Given the description of an element on the screen output the (x, y) to click on. 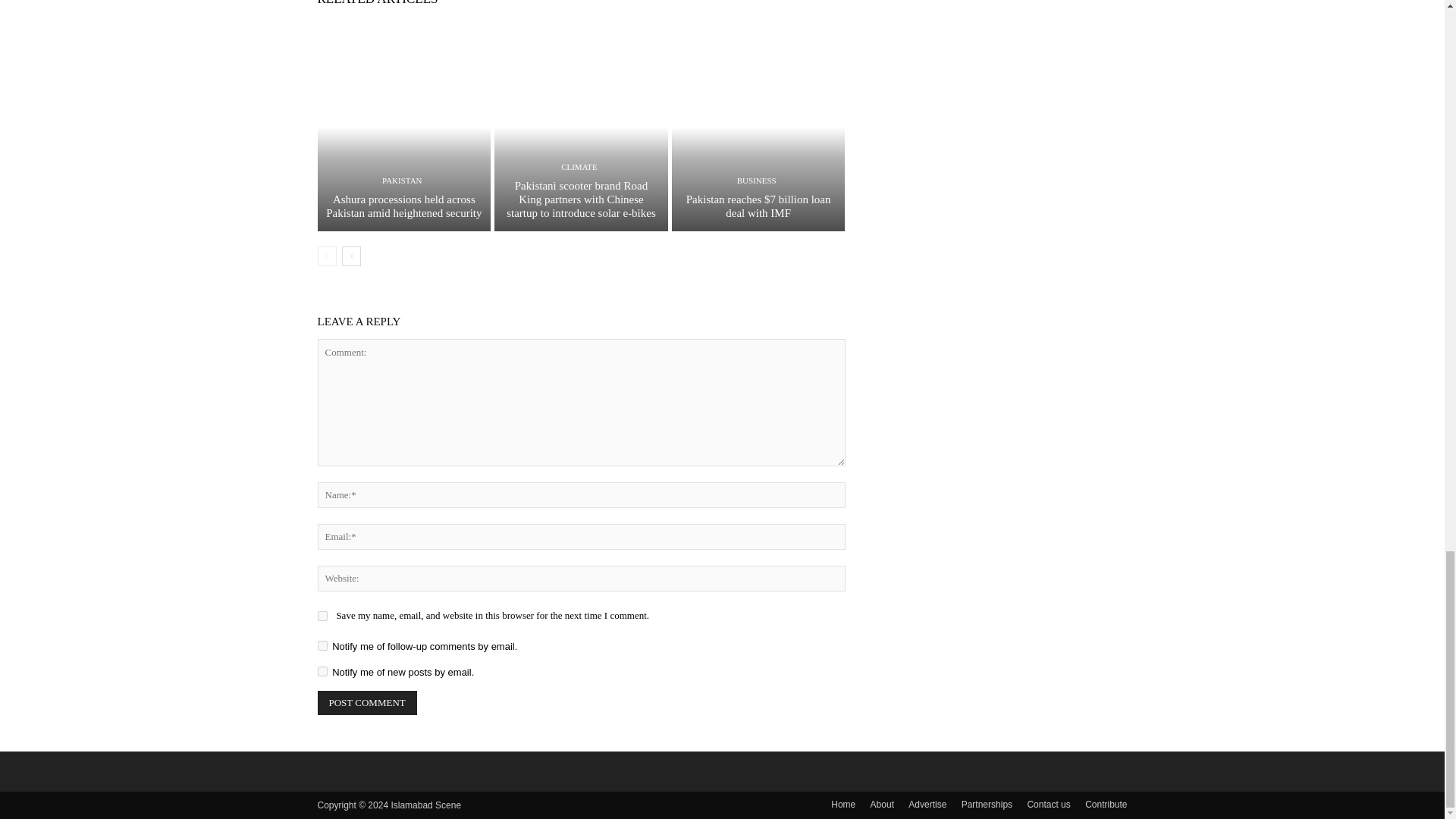
yes (321, 615)
subscribe (321, 645)
Post Comment (366, 702)
subscribe (321, 671)
